Given the description of an element on the screen output the (x, y) to click on. 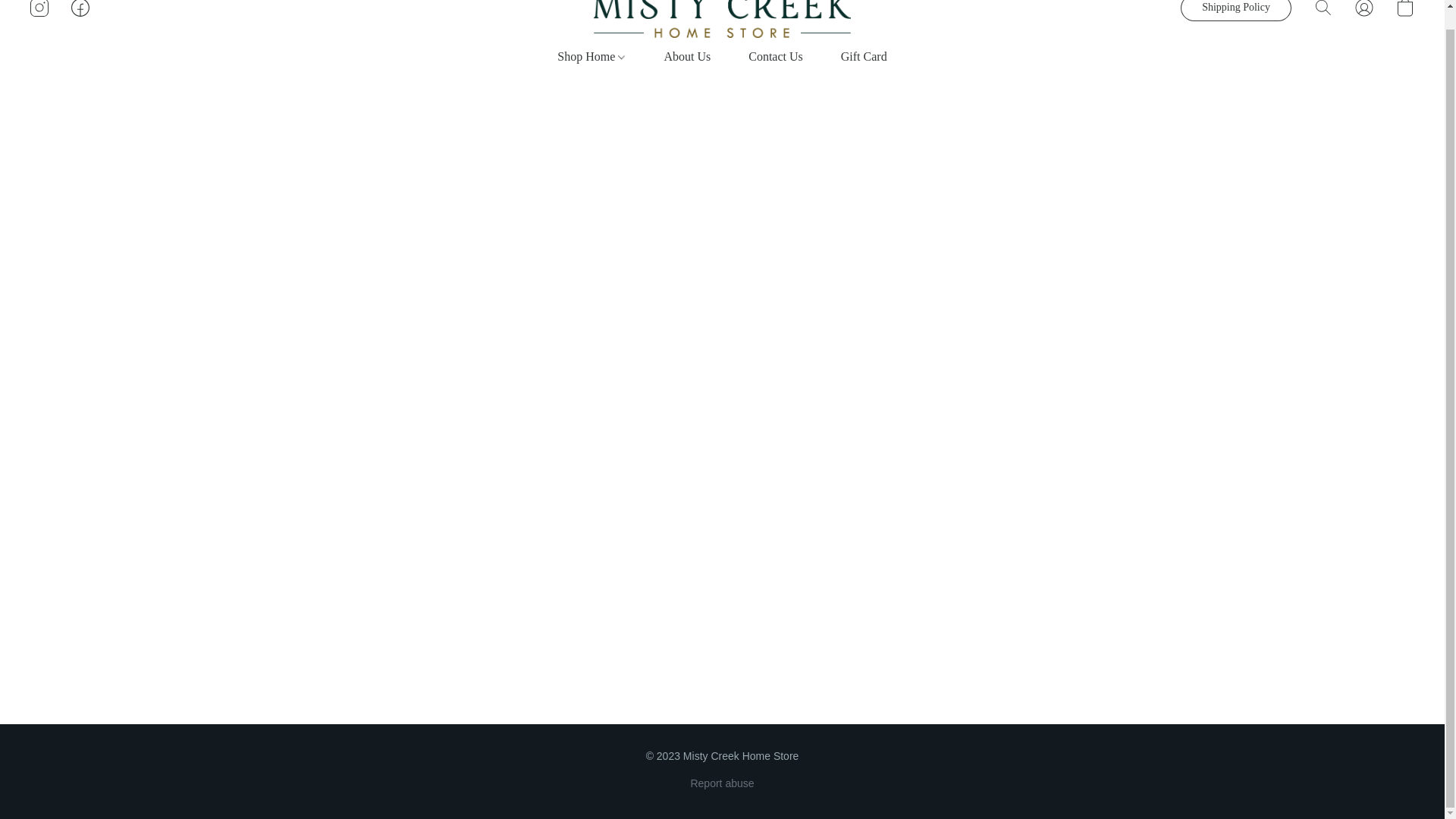
Report abuse (722, 782)
Go to your shopping cart (1404, 12)
Shipping Policy (1235, 10)
Contact Us (775, 56)
About Us (687, 56)
Gift Card (854, 56)
Shop Home (601, 56)
Search the website (1323, 12)
